Given the description of an element on the screen output the (x, y) to click on. 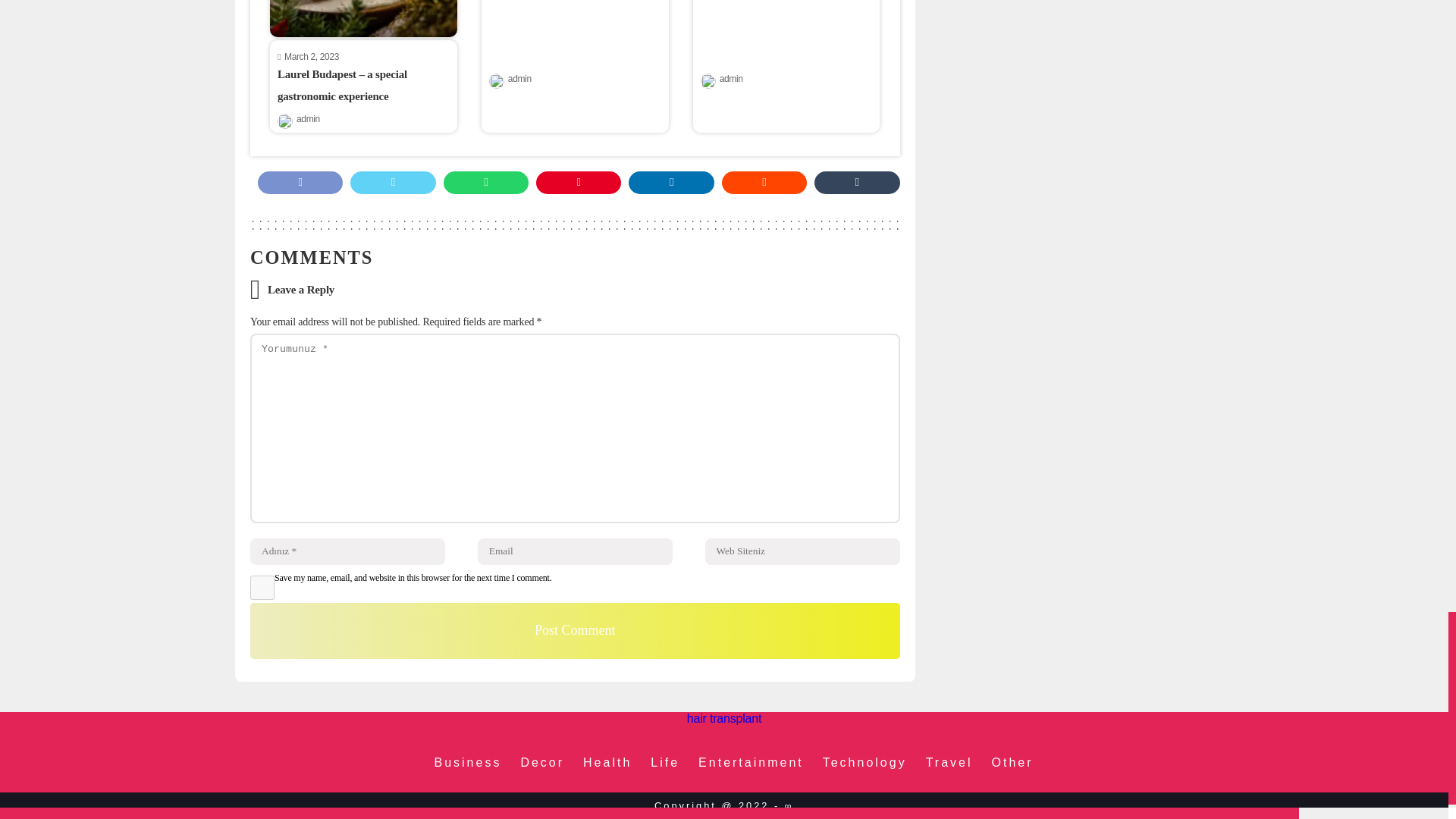
Post Comment (574, 630)
